Given the description of an element on the screen output the (x, y) to click on. 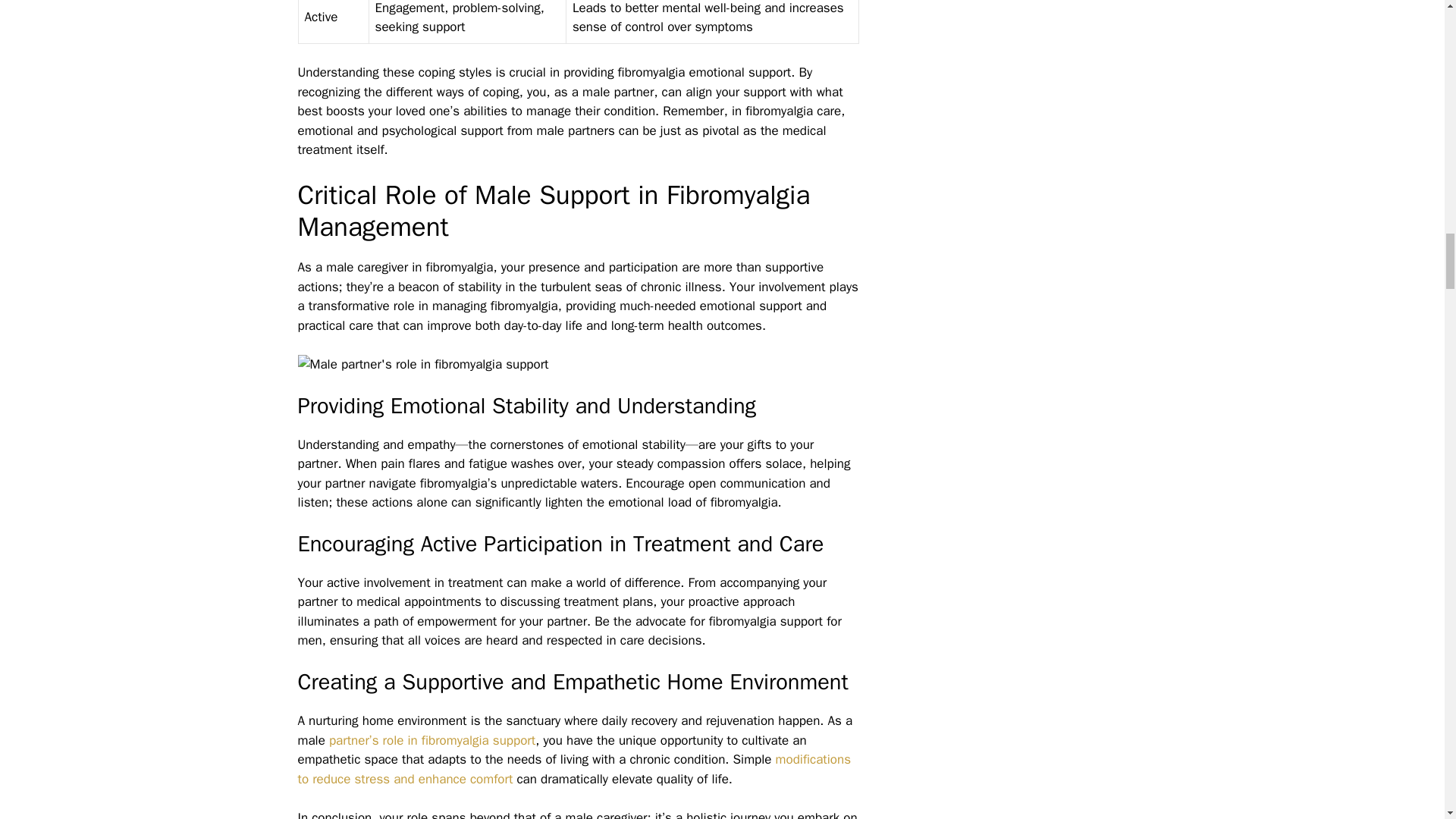
modifications to reduce stress and enhance comfort (573, 769)
